Given the description of an element on the screen output the (x, y) to click on. 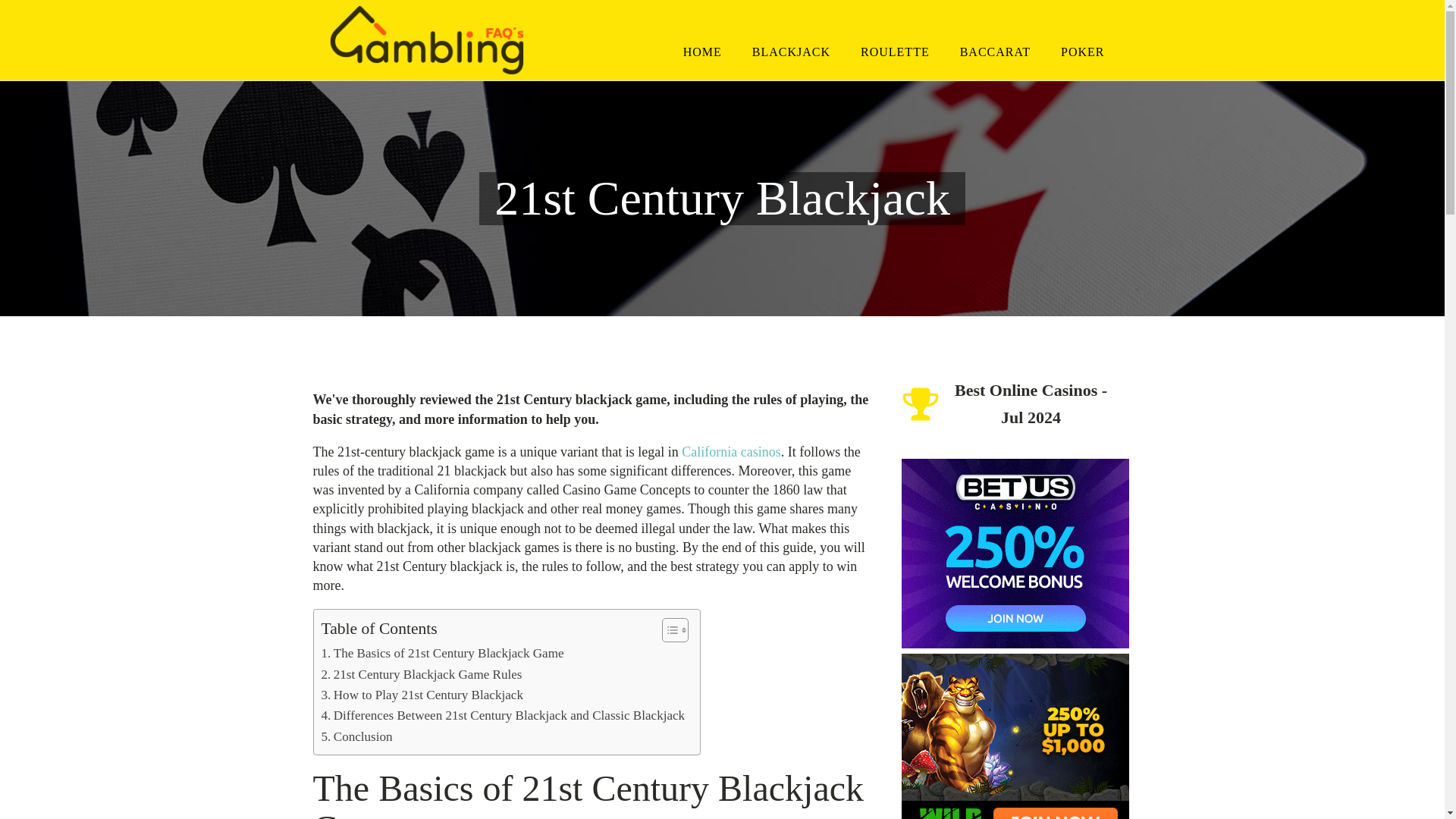
The Basics of 21st Century Blackjack Game (442, 652)
21st Century Blackjack Game Rules (421, 674)
How to Play 21st Century Blackjack (421, 694)
California casinos (730, 451)
How to Play 21st Century Blackjack (421, 694)
Conclusion (357, 736)
HOME (702, 52)
ROULETTE (894, 52)
The Basics of 21st Century Blackjack Game (442, 652)
BACCARAT (994, 52)
Conclusion (357, 736)
21st Century Blackjack Game Rules (421, 674)
BLACKJACK (790, 52)
